Given the description of an element on the screen output the (x, y) to click on. 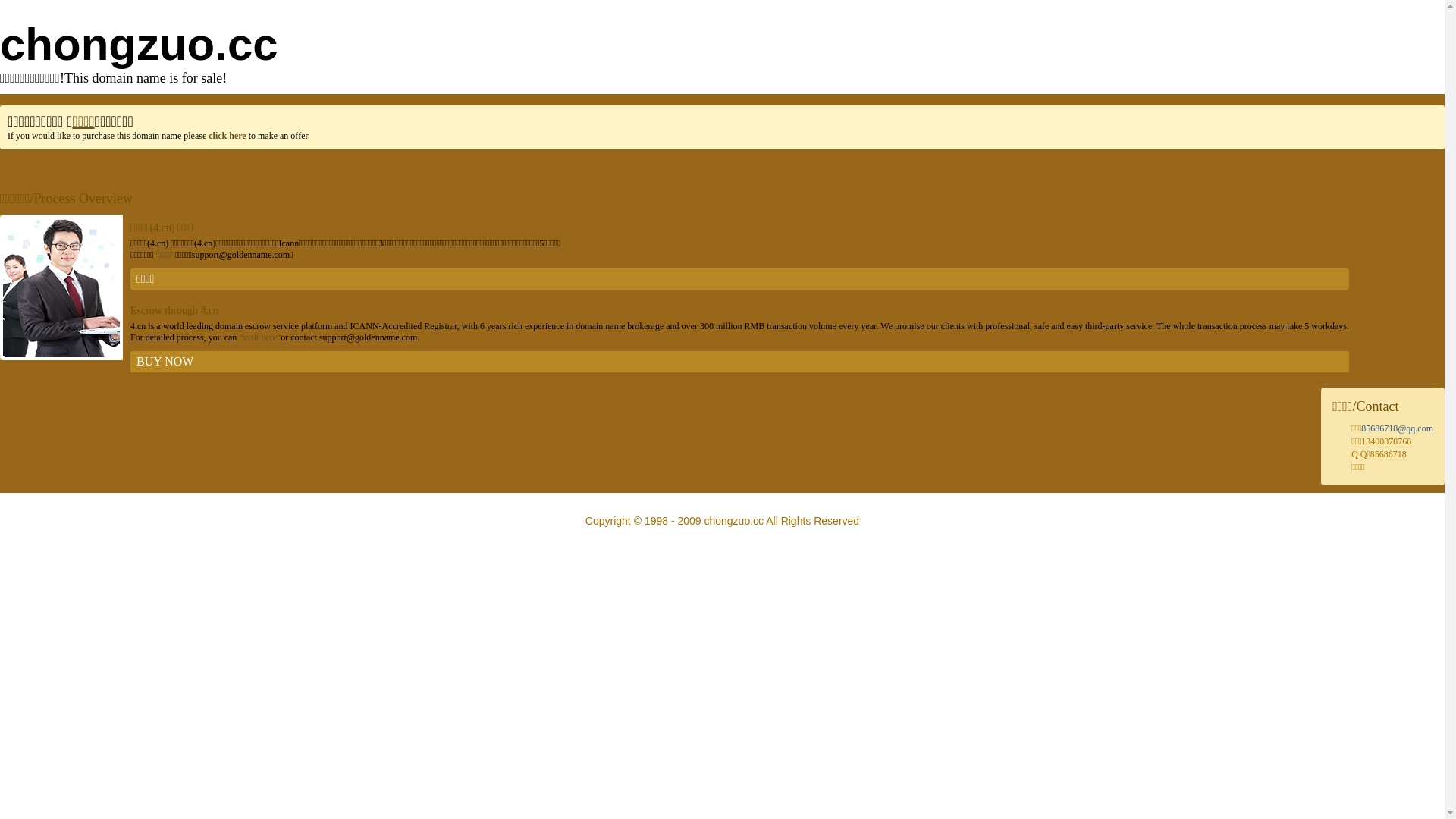
BUY NOW Element type: text (739, 361)
85686718@qq.com Element type: text (1397, 428)
click here Element type: text (226, 135)
